Given the description of an element on the screen output the (x, y) to click on. 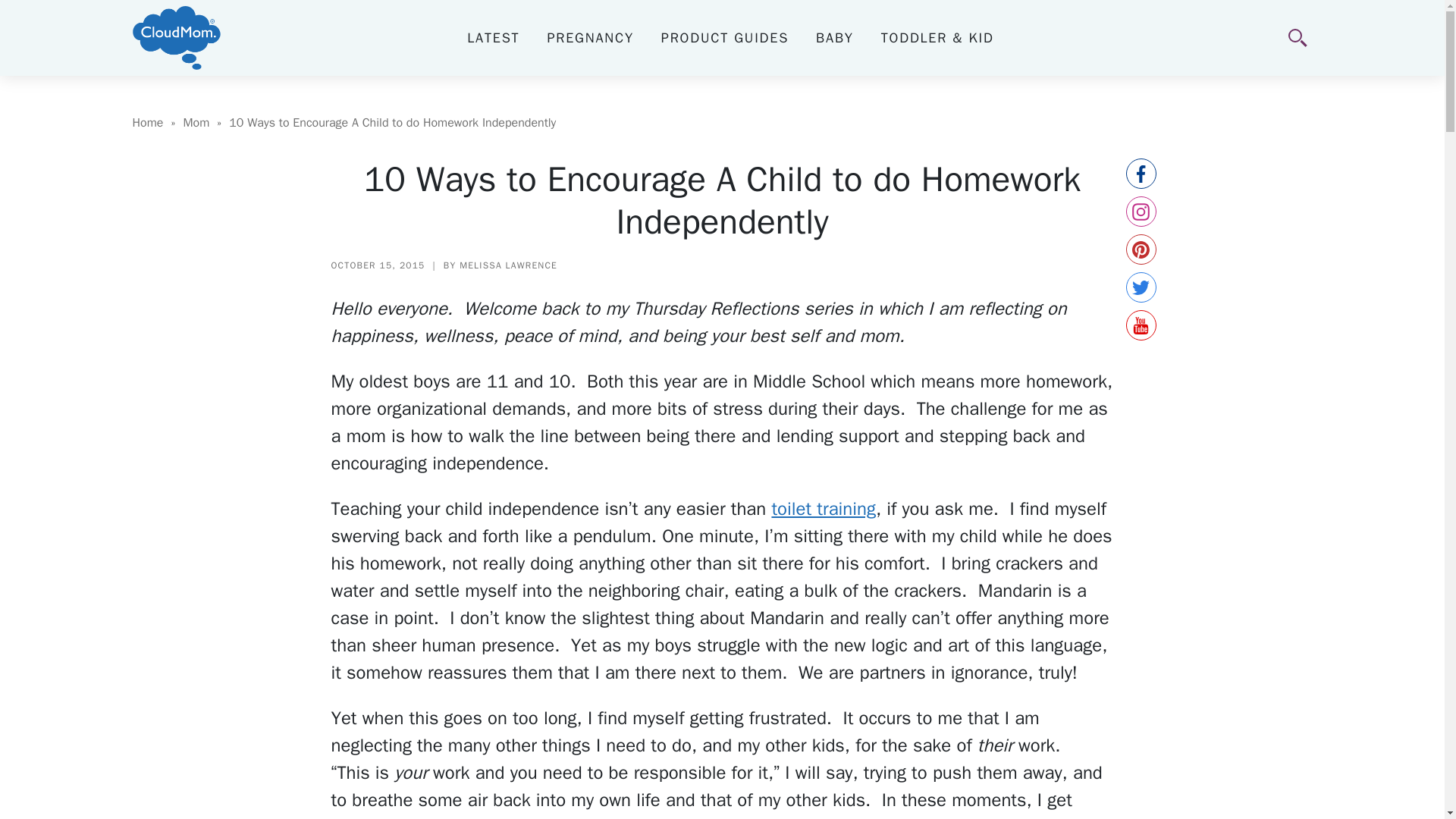
facebook (1140, 173)
instagram (1140, 211)
twitter (1140, 286)
youtube (1140, 325)
LATEST (493, 37)
PREGNANCY (590, 37)
pinterest (1140, 249)
